Given the description of an element on the screen output the (x, y) to click on. 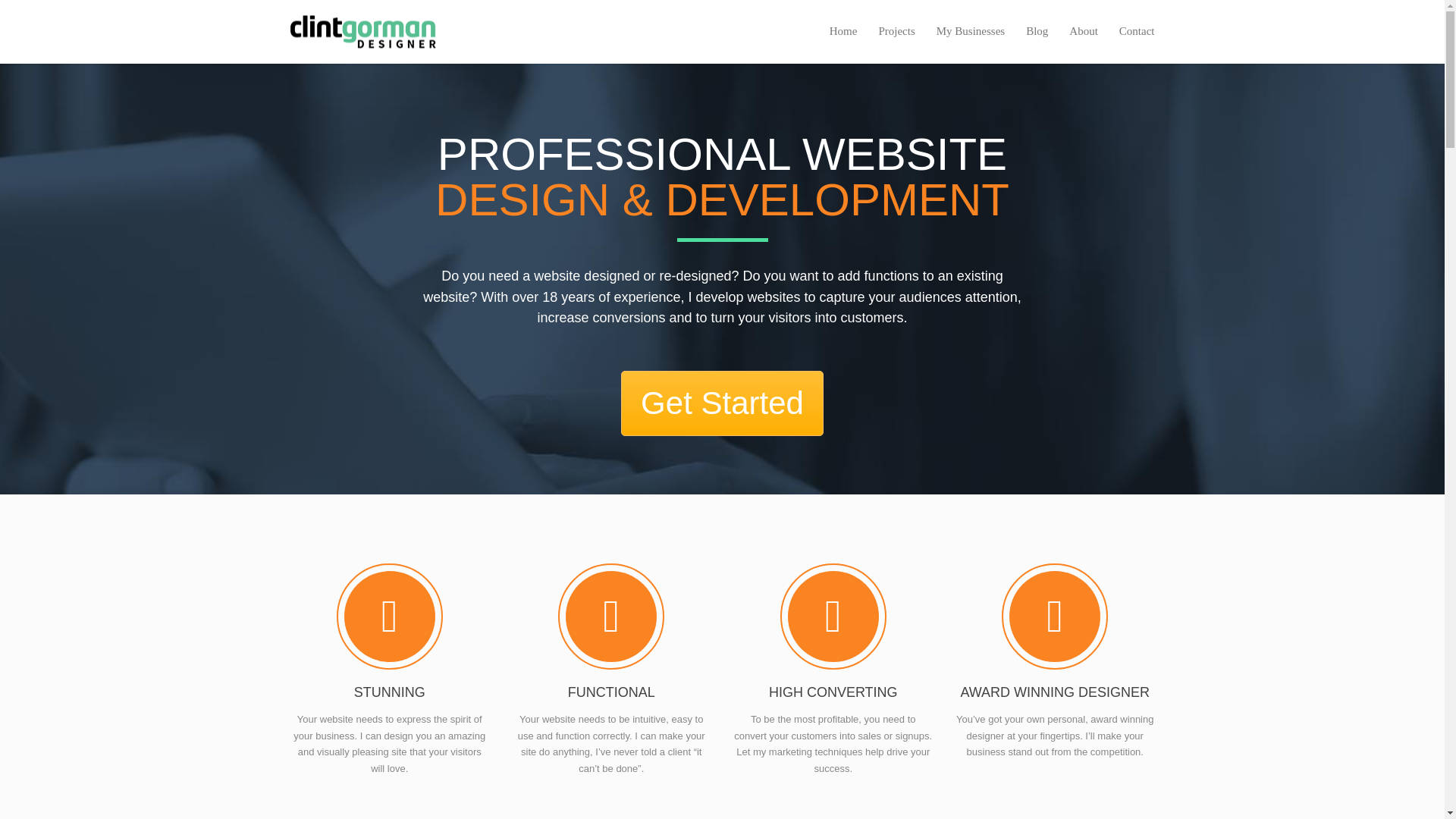
Get Started (722, 403)
Projects (895, 31)
My Businesses (970, 31)
